Given the description of an element on the screen output the (x, y) to click on. 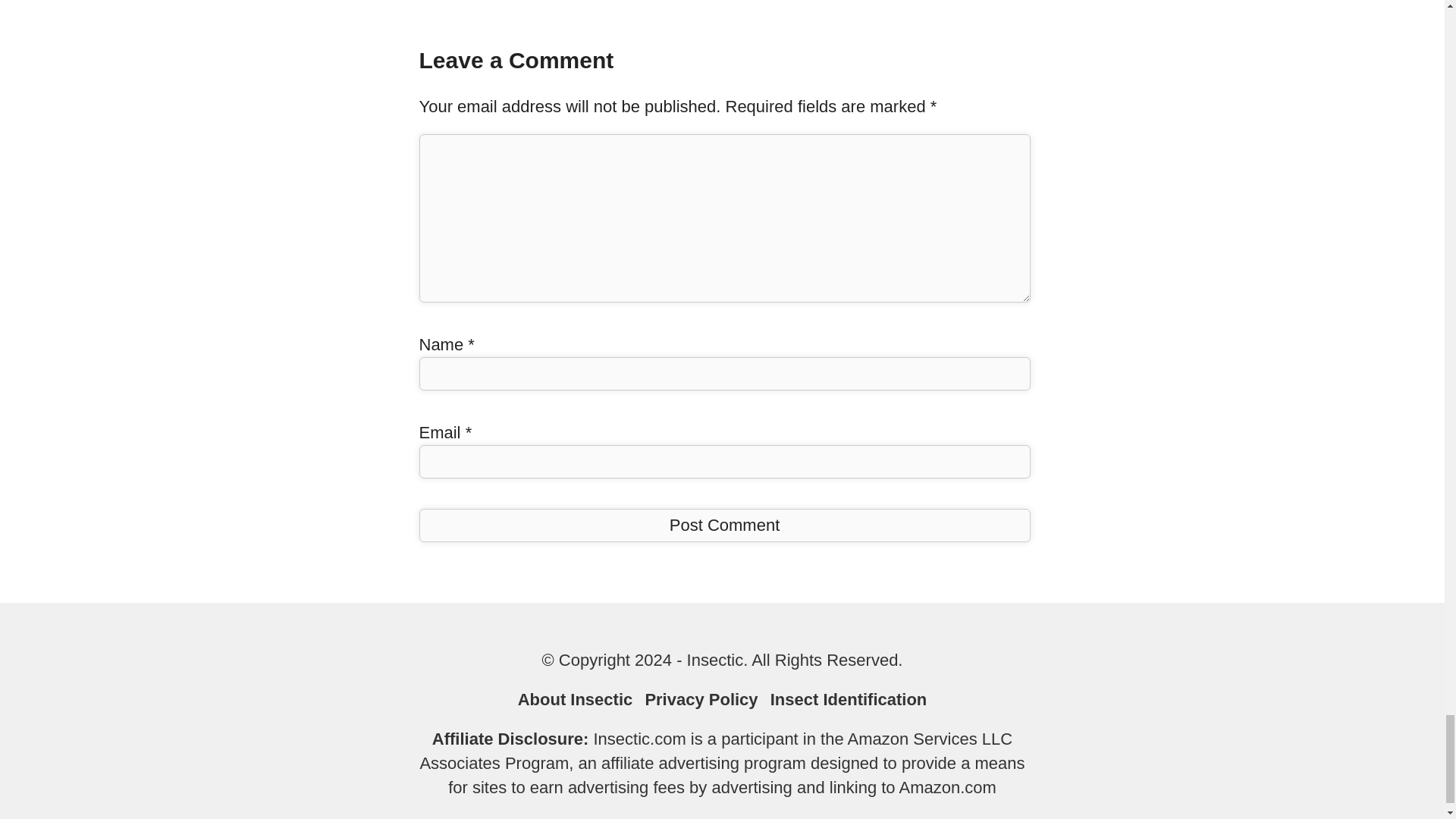
Insect Identification (848, 699)
Post Comment (724, 525)
About Insectic (575, 699)
Privacy Policy (701, 699)
Post Comment (724, 525)
